Given the description of an element on the screen output the (x, y) to click on. 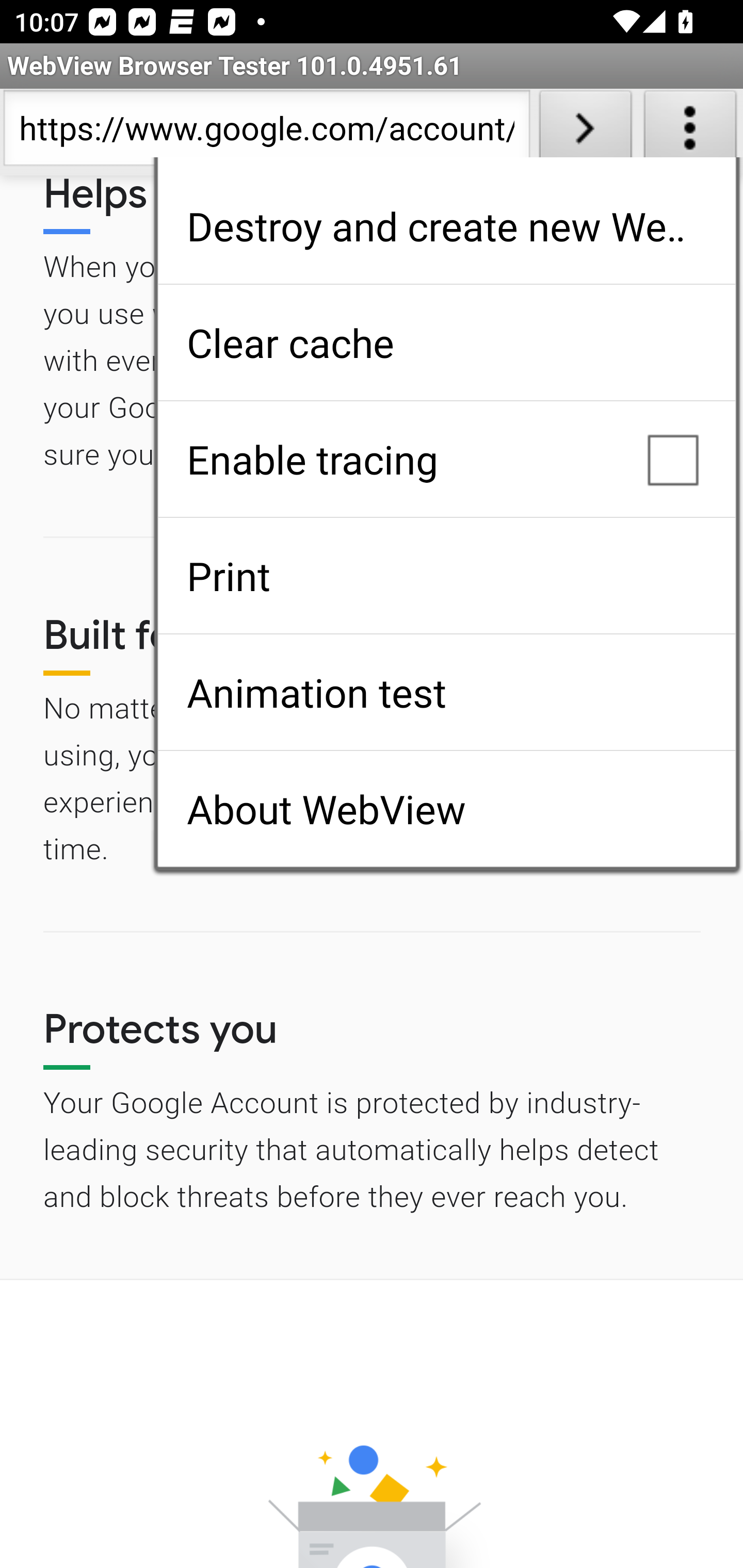
Destroy and create new WebView (446, 225)
Clear cache (446, 342)
Enable tracing (446, 459)
Print (446, 575)
Animation test (446, 692)
About WebView (446, 809)
